Given the description of an element on the screen output the (x, y) to click on. 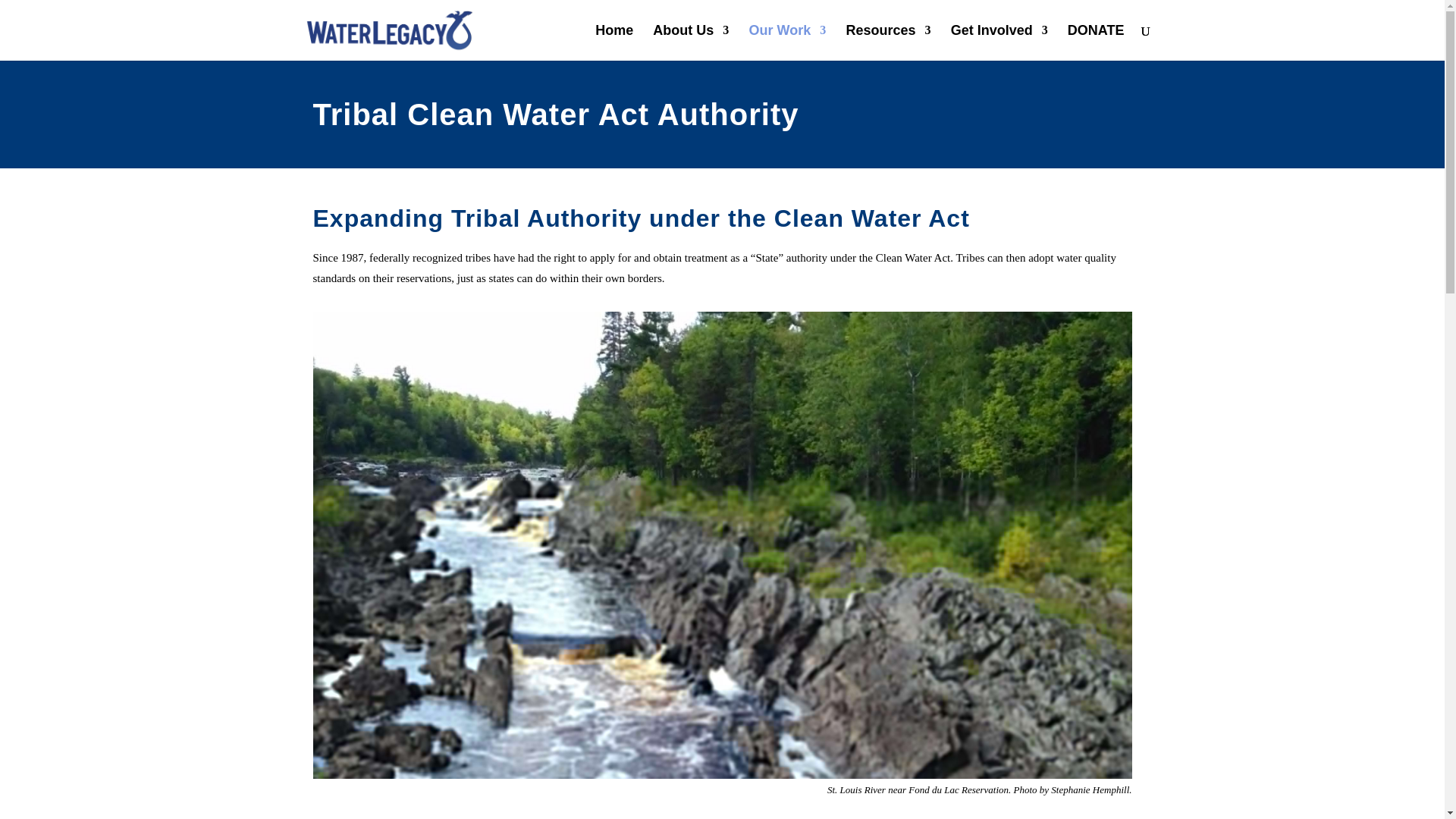
Our Work (788, 42)
Resources (887, 42)
Home (614, 42)
About Us (690, 42)
